Given the description of an element on the screen output the (x, y) to click on. 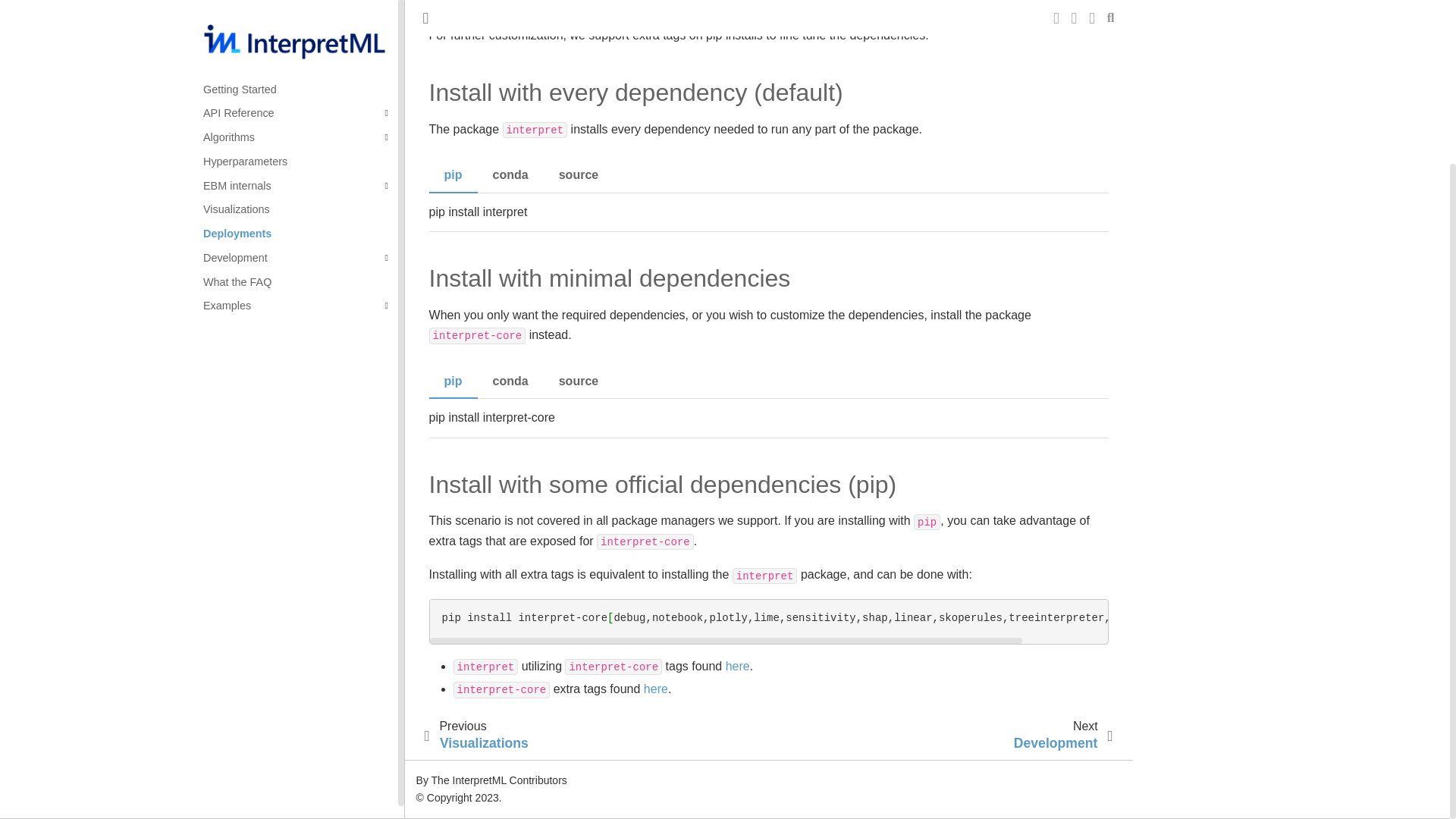
next page (1058, 735)
previous page (481, 735)
